Given the description of an element on the screen output the (x, y) to click on. 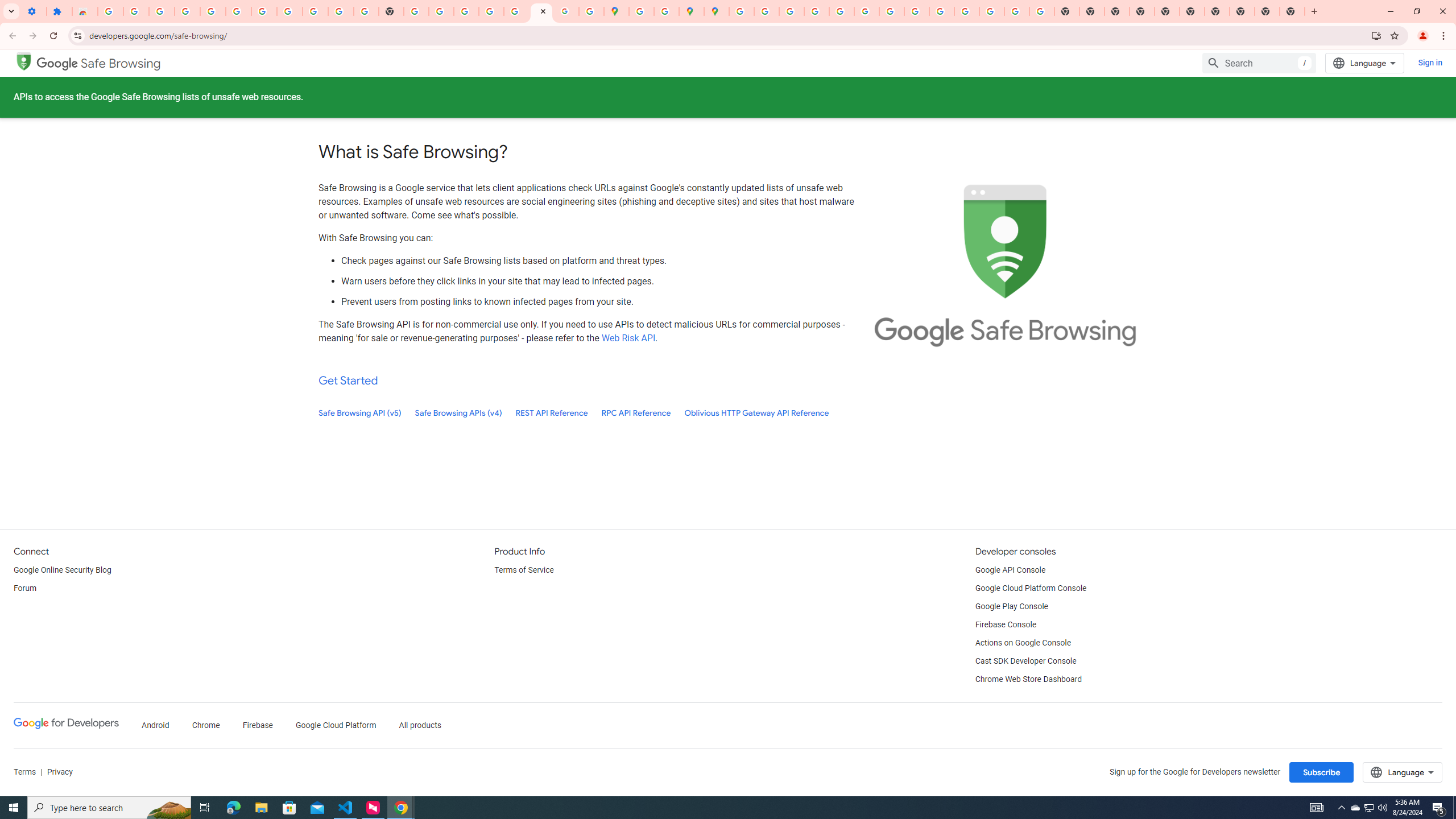
Privacy Help Center - Policies Help (791, 11)
Reviews: Helix Fruit Jump Arcade Game (84, 11)
Safety in Our Products - Google Safety Center (666, 11)
All products (420, 725)
Get Started (348, 380)
Actions on Google Console (1023, 642)
Firebase (257, 725)
Safe Browsing API (v5) (360, 412)
Google Safe Browsing (98, 63)
Google Developers (66, 725)
